Given the description of an element on the screen output the (x, y) to click on. 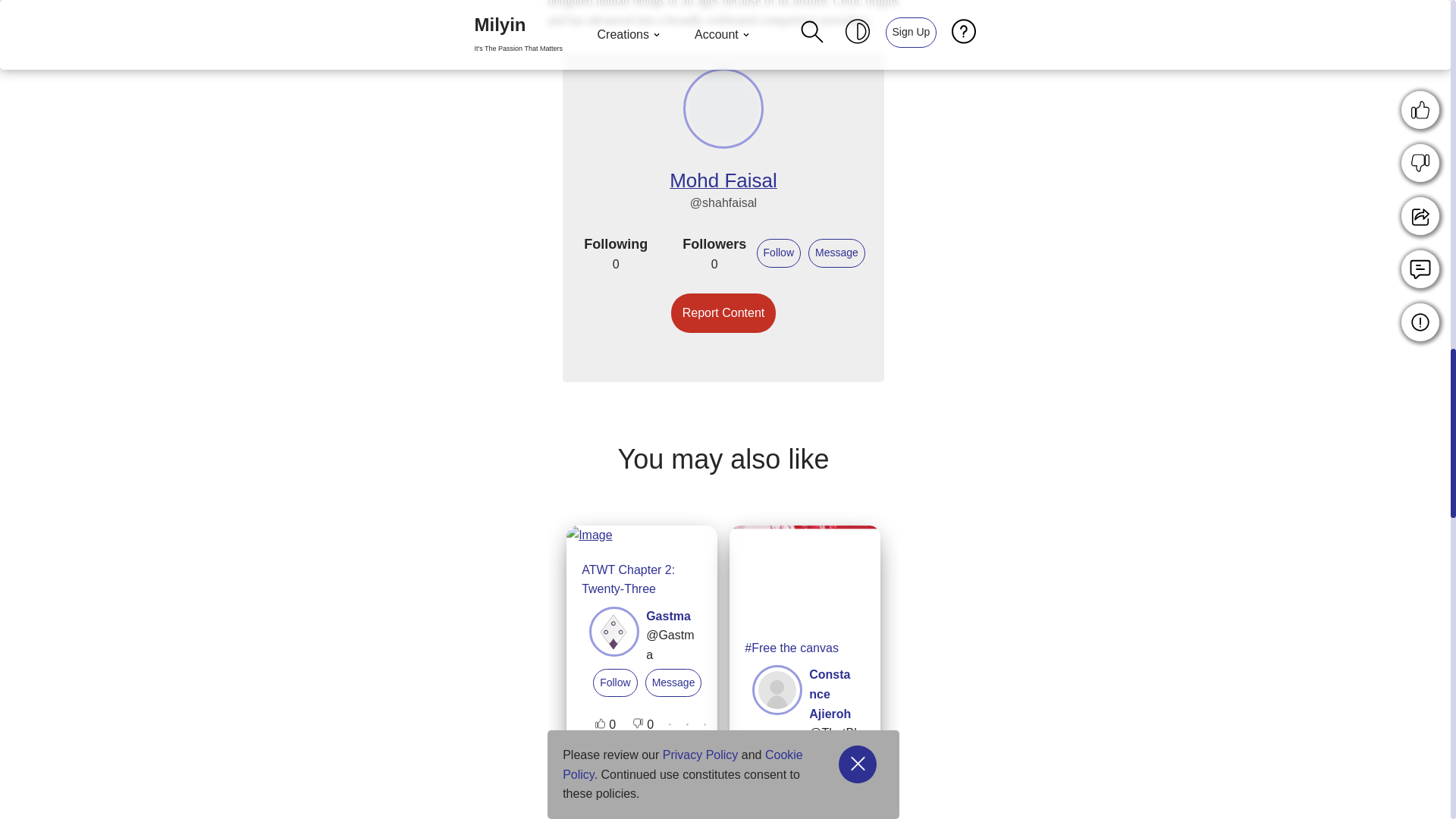
Mohd Faisal (723, 182)
